Given the description of an element on the screen output the (x, y) to click on. 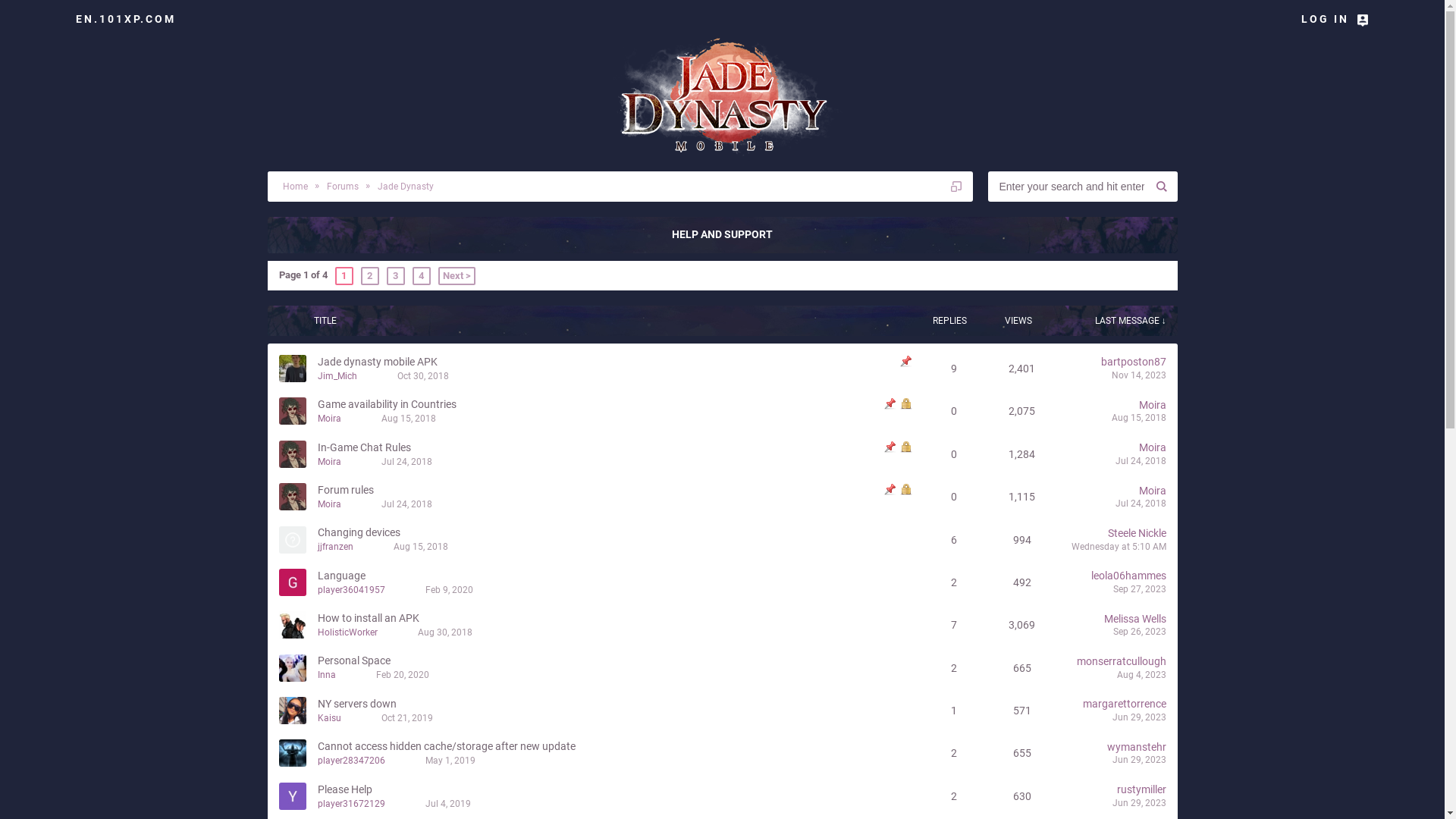
Jul 4, 2019 Element type: text (447, 802)
Home Element type: text (290, 186)
NY servers down Element type: text (355, 703)
leola06hammes Element type: text (1127, 575)
Steele Nickle Element type: text (1136, 533)
Jade dynasty mobile APK Element type: text (376, 361)
Feb 9, 2020 Element type: text (448, 589)
Sep 26, 2023 Element type: text (1139, 631)
Jul 24, 2018 Element type: text (1139, 503)
Changing devices Element type: text (357, 532)
Aug 4, 2023 Element type: text (1140, 674)
rustymiller Element type: text (1140, 789)
TITLE Element type: text (454, 320)
Wednesday at 5:10 AM Element type: text (1117, 546)
REPLIES Element type: text (950, 320)
2 Element type: text (369, 275)
Nov 14, 2023 Element type: text (1138, 375)
Forum rules Element type: text (344, 489)
Jim_Mich Element type: text (336, 375)
Sep 27, 2023 Element type: text (1139, 588)
Jun 29, 2023 Element type: text (1138, 717)
1 Element type: text (344, 275)
Enter your search and hit enter Element type: hover (1066, 186)
monserratcullough Element type: text (1121, 661)
player28347206 Element type: text (350, 760)
HolisticWorker Element type: text (346, 632)
Personal Space Element type: text (352, 660)
In-Game Chat Rules Element type: text (363, 447)
Aug 15, 2018 Element type: text (407, 418)
Forums Element type: text (340, 186)
Melissa Wells Element type: text (1135, 618)
Language Element type: text (340, 575)
Jun 29, 2023 Element type: text (1138, 759)
EN.101XP.COM Element type: text (125, 18)
Inna Element type: text (325, 674)
Moira Element type: text (328, 418)
margarettorrence Element type: text (1124, 703)
Aug 30, 2018 Element type: text (444, 632)
Moira Element type: text (328, 503)
4 Element type: text (421, 275)
LOG IN Element type: text (1334, 18)
Jul 24, 2018 Element type: text (405, 503)
Please Help Element type: text (343, 788)
bartposton87 Element type: text (1133, 361)
player36041957 Element type: text (350, 589)
Aug 15, 2018 Element type: text (1138, 417)
Open quick navigation Element type: hover (955, 186)
Game availability in Countries Element type: text (385, 404)
Moira Element type: text (1152, 490)
Oct 30, 2018 Element type: text (422, 375)
player31672129 Element type: text (350, 802)
3 Element type: text (395, 275)
May 1, 2019 Element type: text (449, 760)
Moira Element type: text (1152, 447)
Jul 24, 2018 Element type: text (405, 461)
Jul 24, 2018 Element type: text (1139, 460)
Kaisu Element type: text (328, 717)
jjfranzen Element type: text (334, 546)
Jun 29, 2023 Element type: text (1138, 802)
wymanstehr Element type: text (1136, 746)
Jade Dynasty Element type: text (402, 186)
Moira Element type: text (328, 461)
Moira Element type: text (1152, 404)
Feb 20, 2020 Element type: text (402, 674)
Aug 15, 2018 Element type: text (419, 546)
Cannot access hidden cache/storage after new update Element type: text (445, 746)
Next > Element type: text (456, 275)
Oct 21, 2019 Element type: text (406, 717)
VIEWS Element type: text (1018, 320)
How to install an APK Element type: text (367, 617)
